Given the description of an element on the screen output the (x, y) to click on. 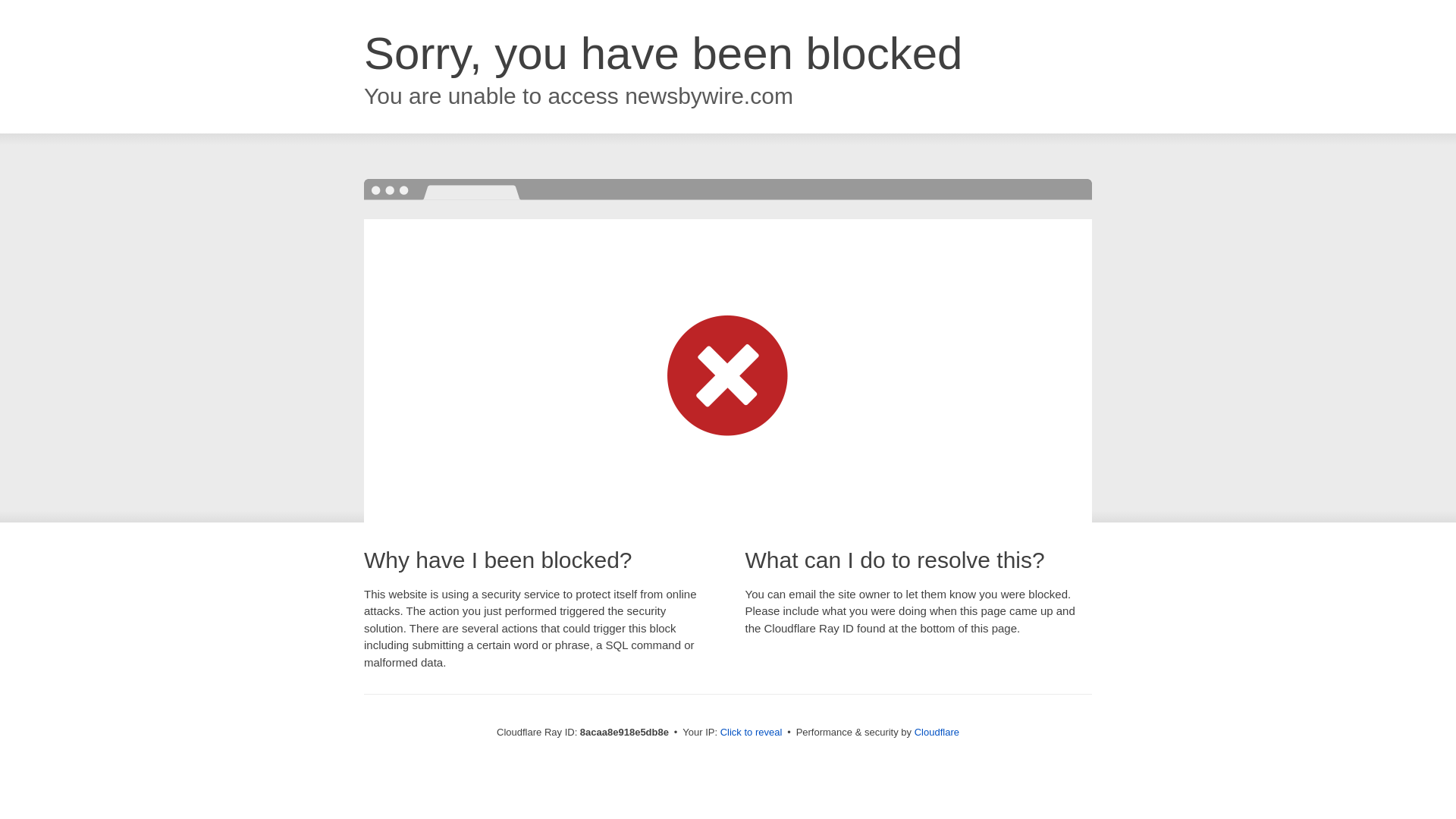
Click to reveal (751, 732)
Cloudflare (936, 731)
